Given the description of an element on the screen output the (x, y) to click on. 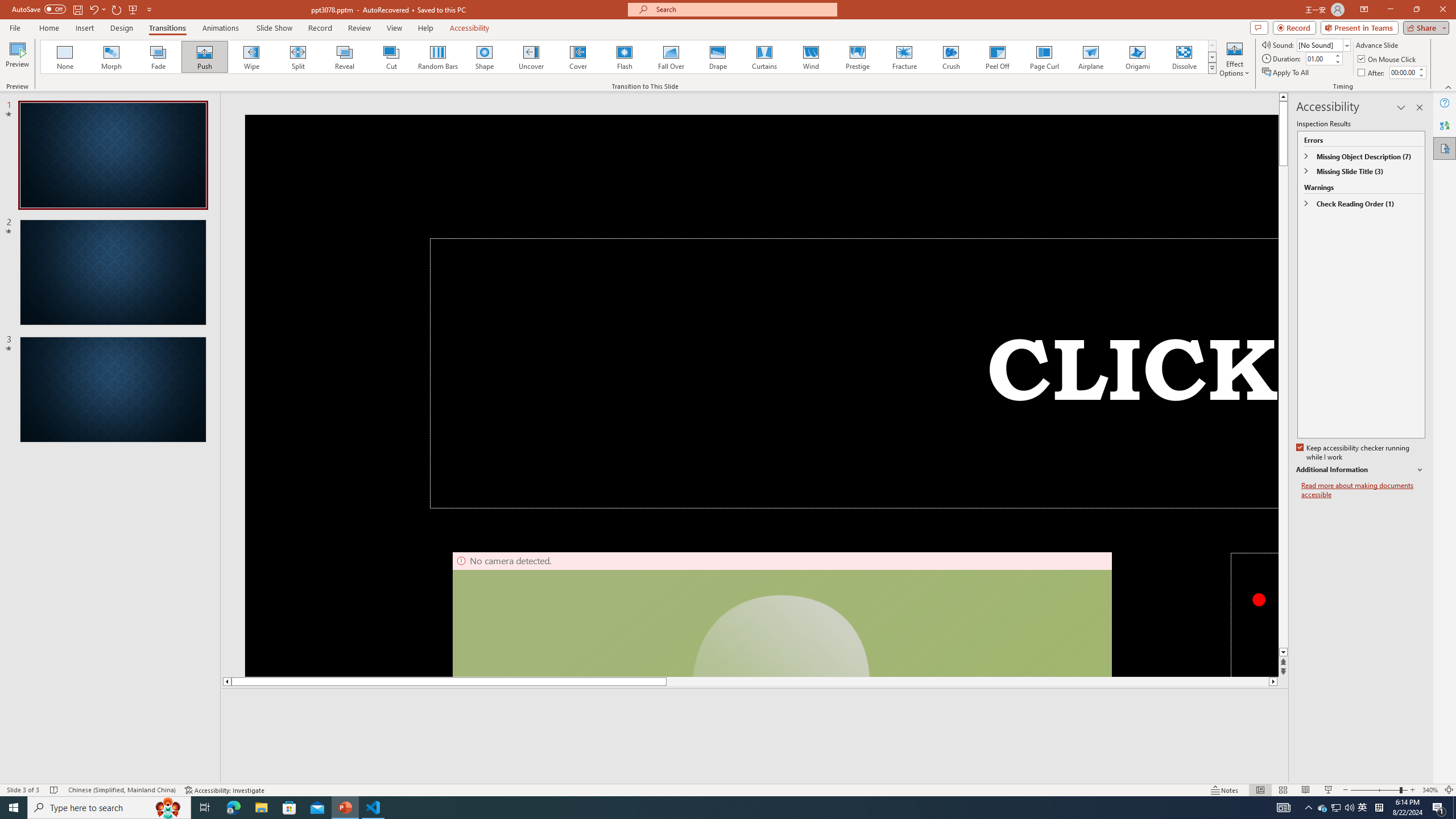
Curtains (764, 56)
Push (205, 56)
Fall Over (670, 56)
Dissolve (1183, 56)
